Given the description of an element on the screen output the (x, y) to click on. 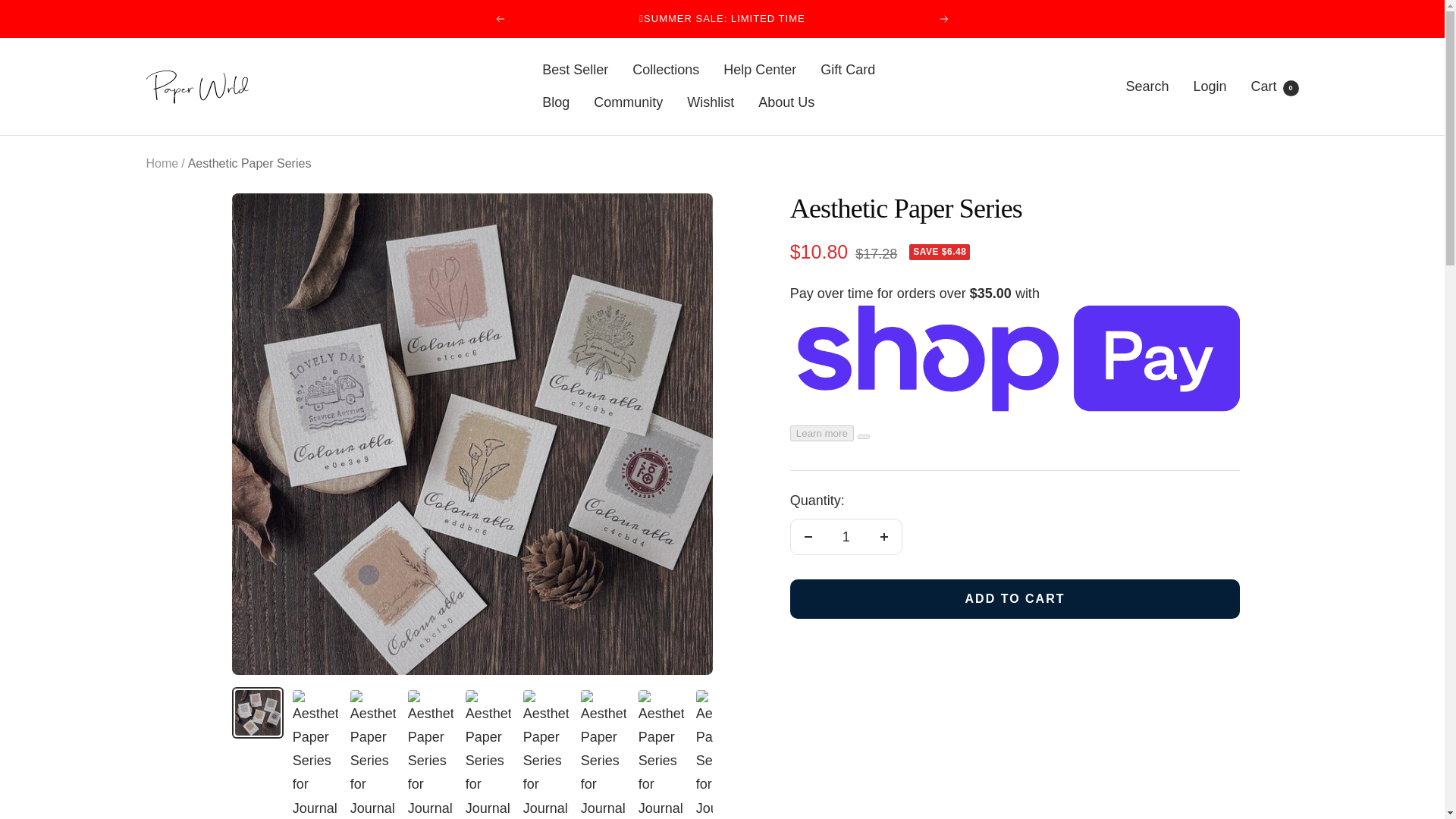
Search (1147, 86)
Blog (555, 102)
ADD TO CART (1015, 599)
Gift Card (848, 69)
Collections (664, 69)
Best Seller (574, 69)
Next (944, 18)
Wishlist (710, 102)
Login (1208, 86)
Decrease quantity (807, 536)
PaperWrld (196, 86)
Increase quantity (883, 536)
About Us (785, 102)
Home (161, 163)
1 (845, 536)
